Given the description of an element on the screen output the (x, y) to click on. 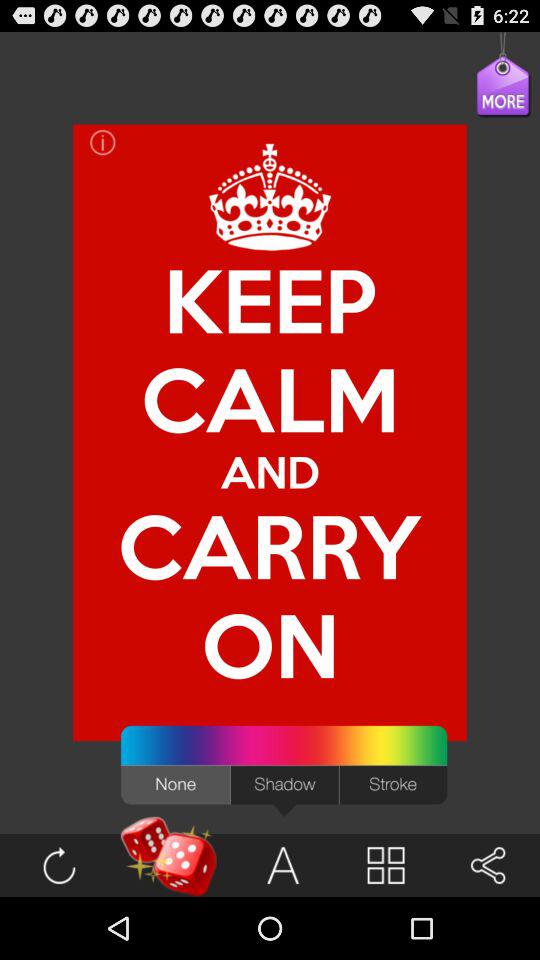
press the and icon (269, 471)
